Given the description of an element on the screen output the (x, y) to click on. 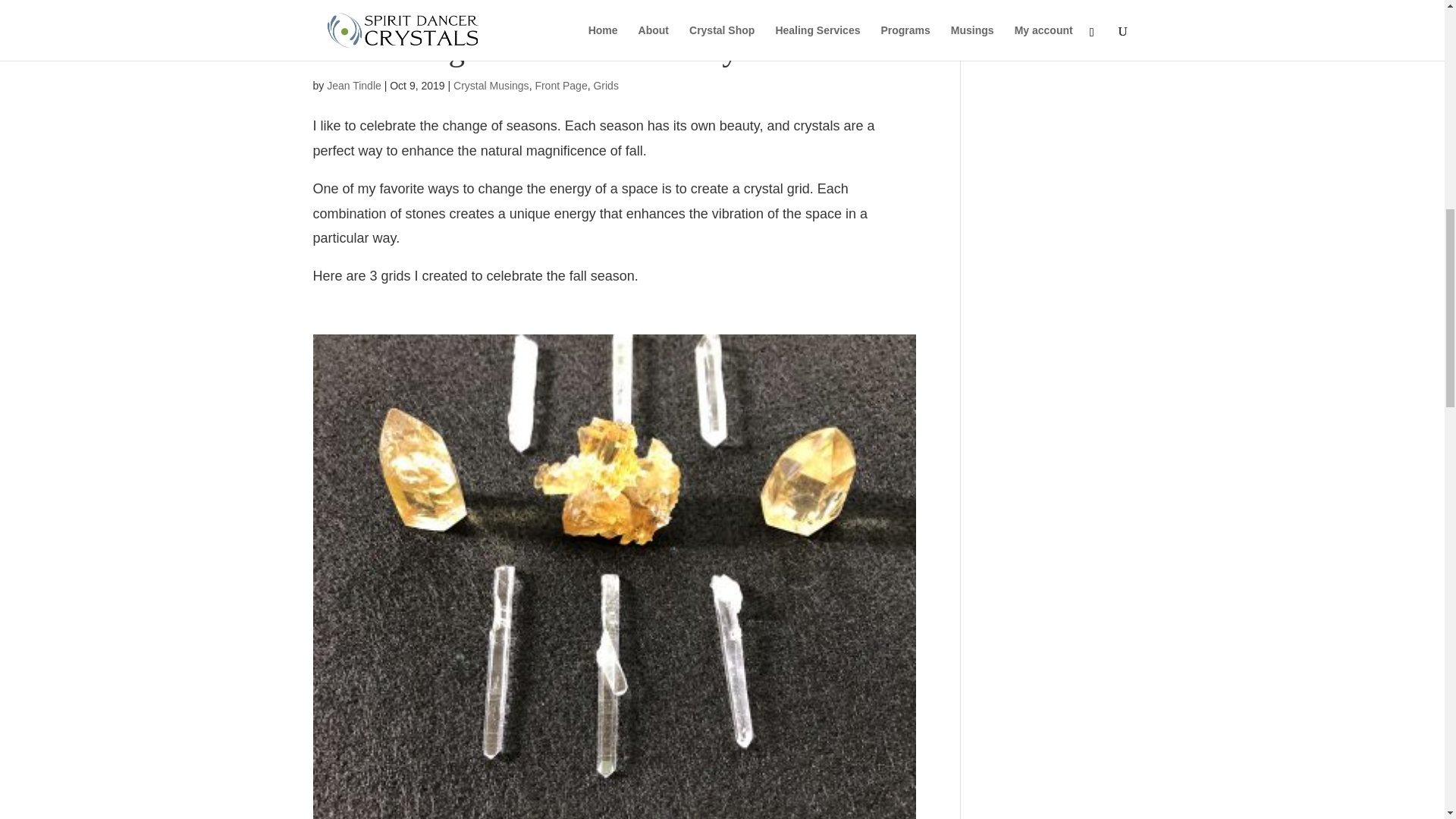
Grids (604, 85)
Crystal Musings (490, 85)
Jean Tindle (353, 85)
Posts by Jean Tindle (353, 85)
Front Page (560, 85)
Celebrating the Fall Season: Crystal Grids (588, 49)
